Given the description of an element on the screen output the (x, y) to click on. 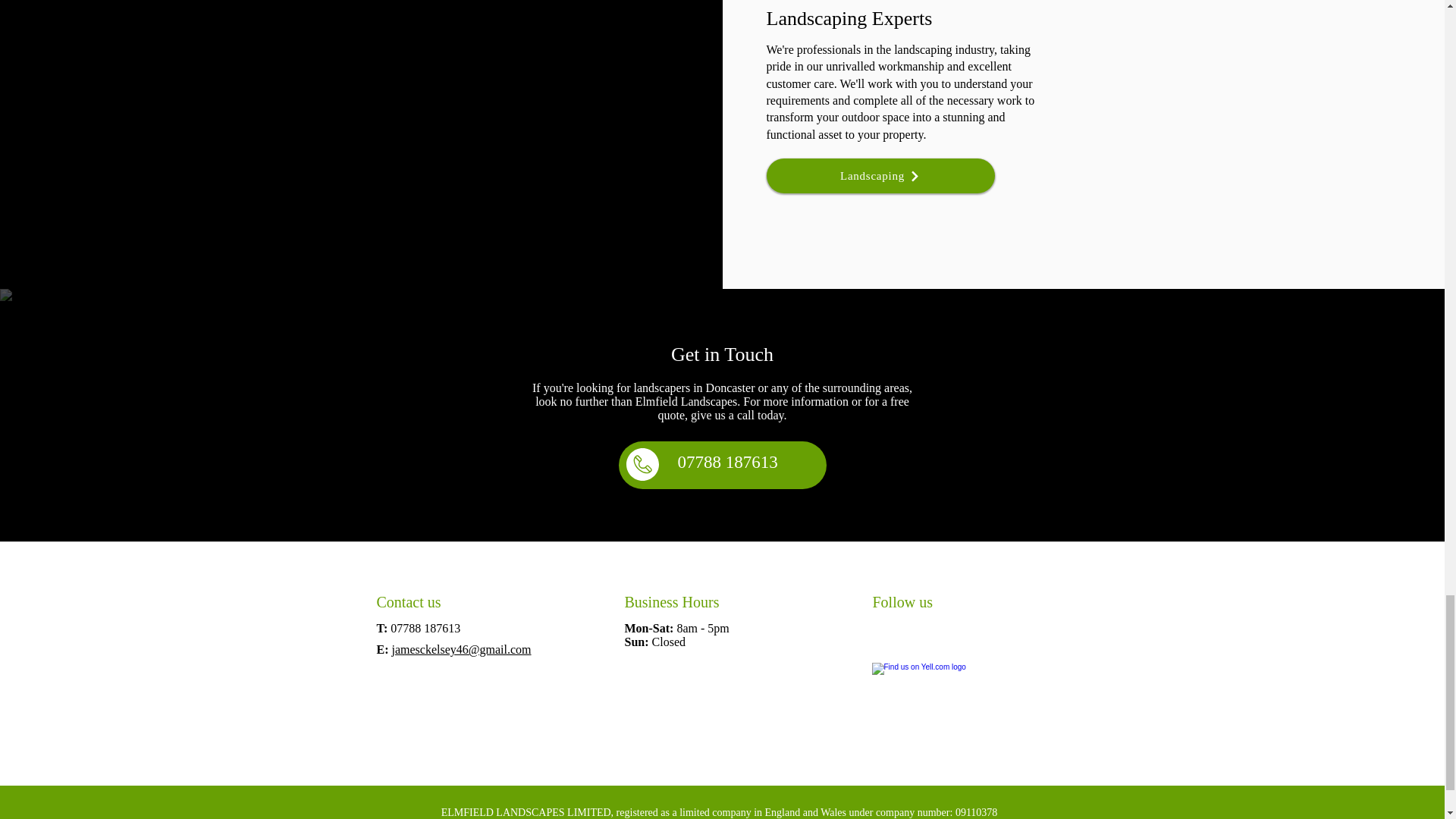
07788 187613 (425, 627)
Landscaping (879, 175)
07788 187613 (727, 461)
